Given the description of an element on the screen output the (x, y) to click on. 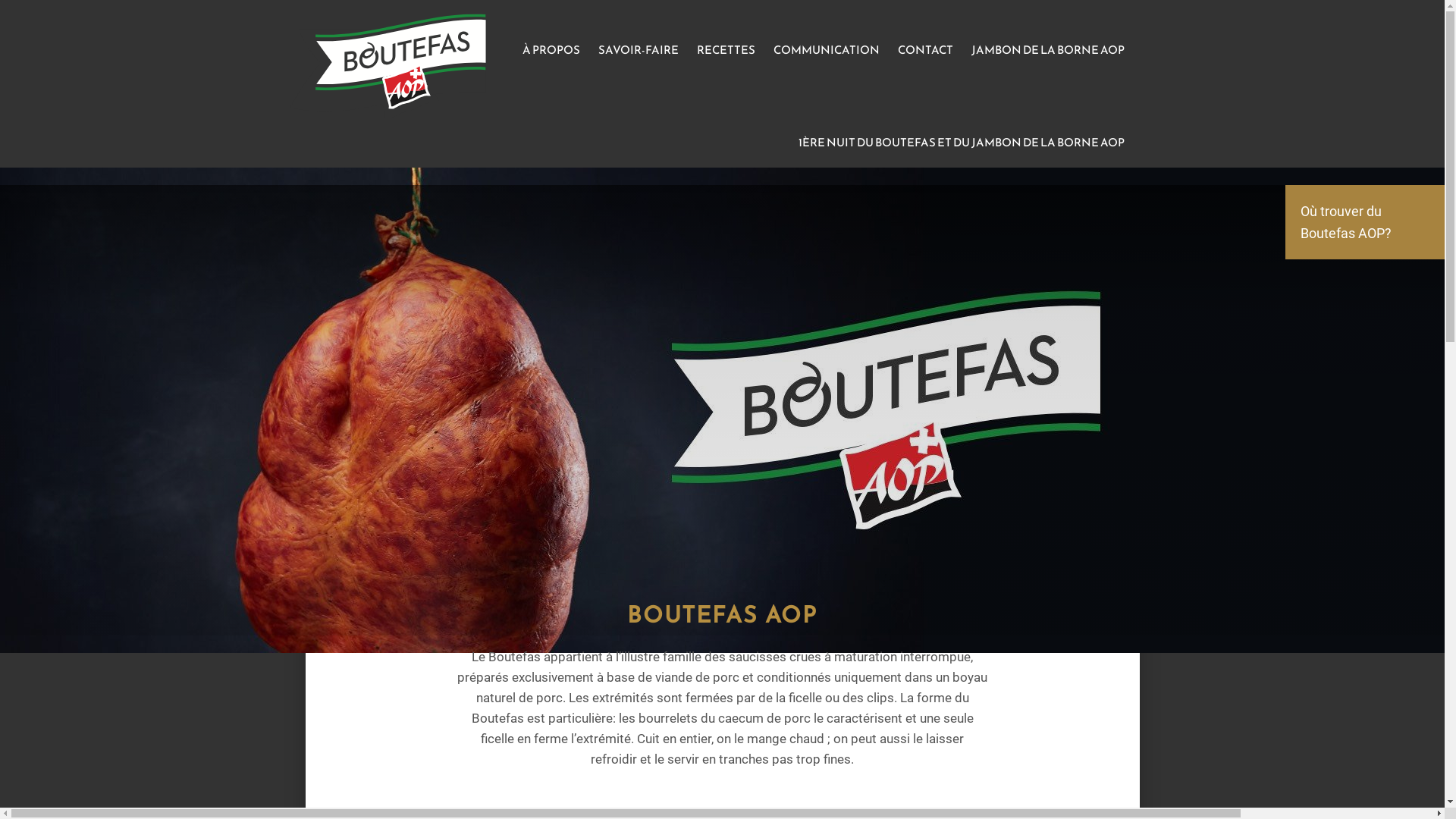
CONTACT Element type: text (925, 49)
COMMUNICATION Element type: text (826, 49)
SAVOIR-FAIRE Element type: text (637, 49)
JAMBON DE LA BORNE AOP Element type: text (1047, 49)
RECETTES Element type: text (725, 49)
